Given the description of an element on the screen output the (x, y) to click on. 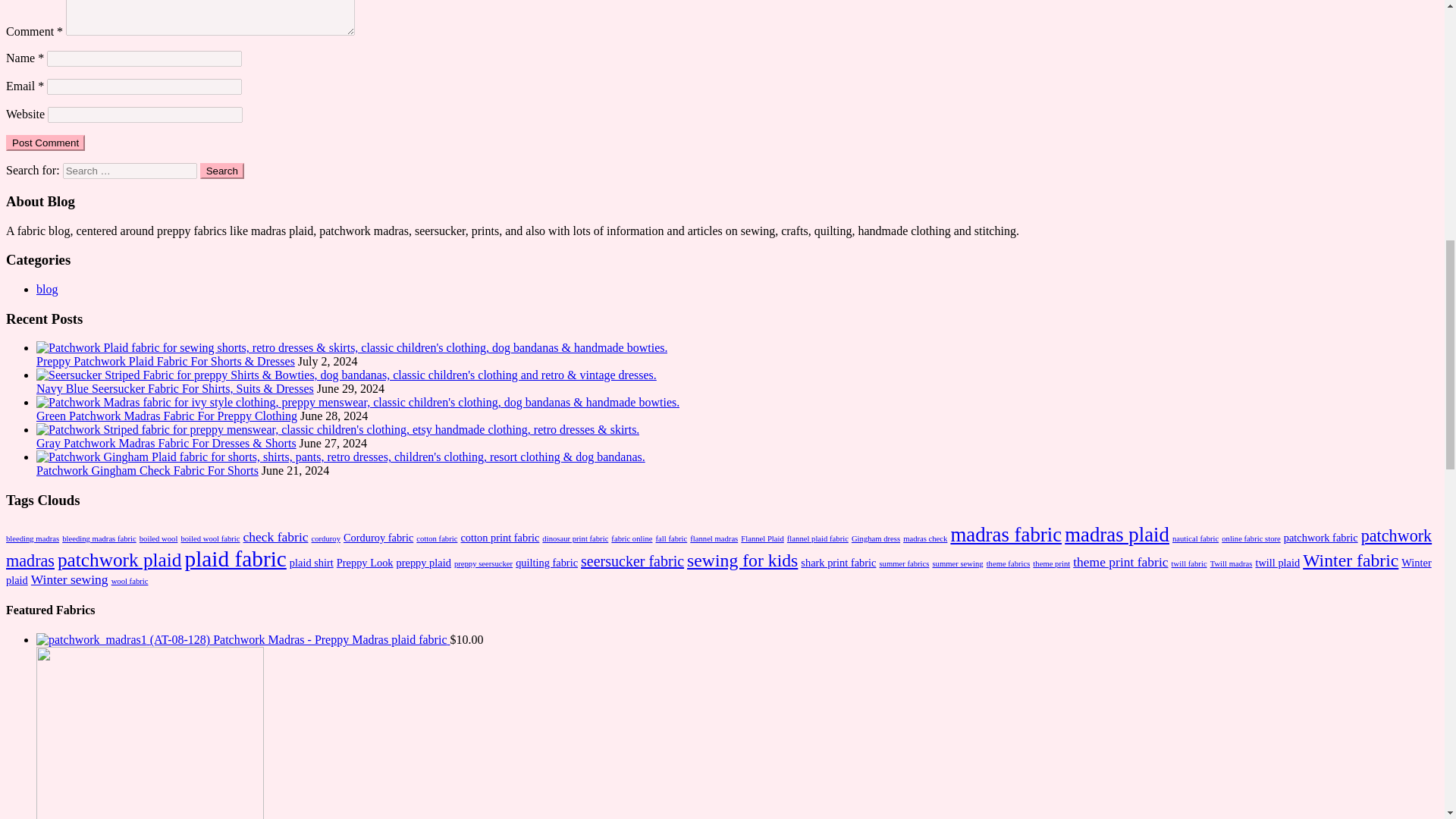
Post Comment (44, 142)
Patchwork Gingham Check Fabric For Shorts (147, 470)
blog (47, 288)
Post Comment (44, 142)
Search (222, 170)
Green Patchwork Madras Fabric For Preppy Clothing (166, 415)
Search (222, 170)
Search (222, 170)
